Given the description of an element on the screen output the (x, y) to click on. 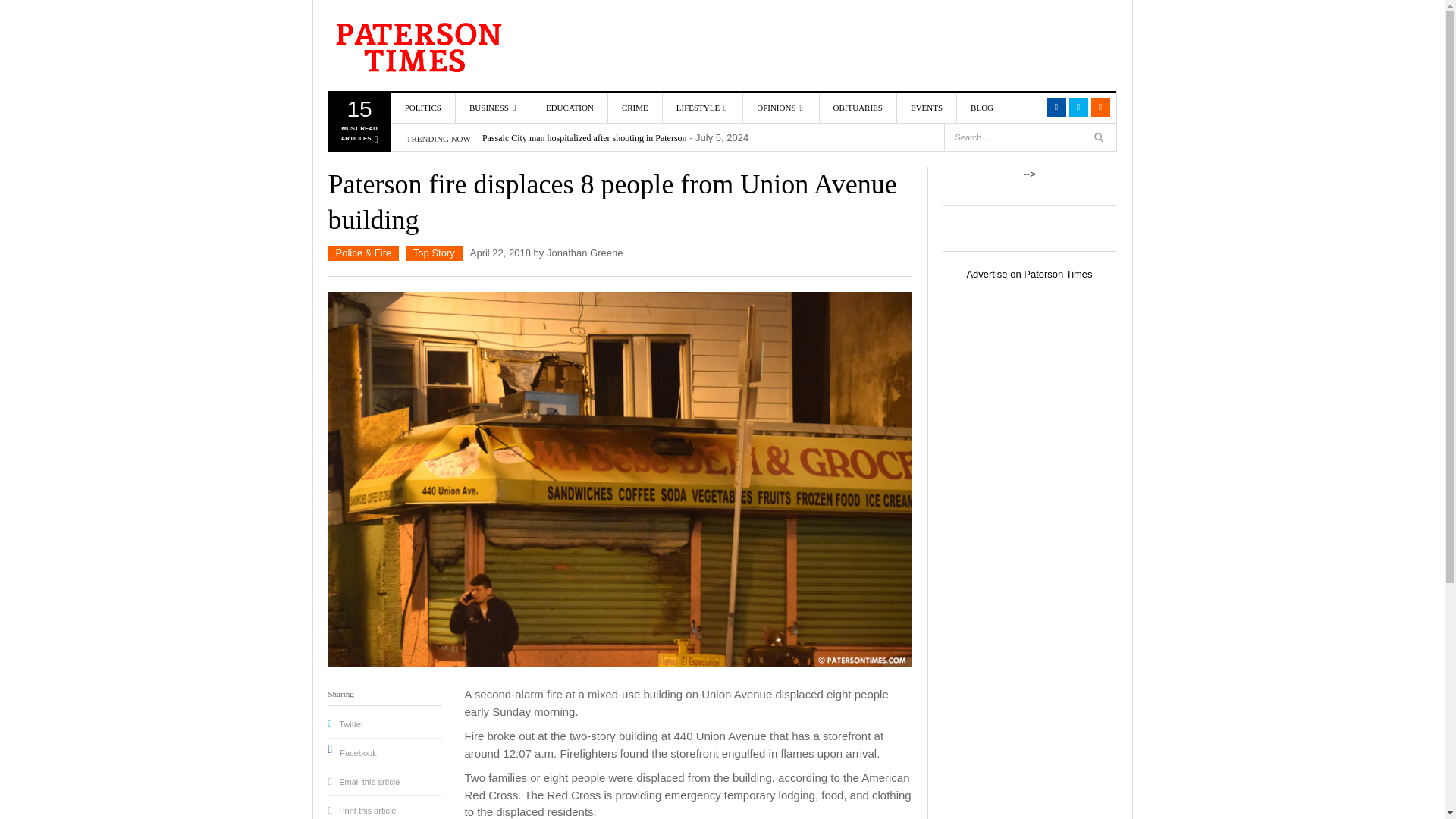
Paterson Times (414, 45)
Search (1026, 108)
POLITICS (422, 107)
Paterson Times (414, 45)
Search (358, 124)
